Given the description of an element on the screen output the (x, y) to click on. 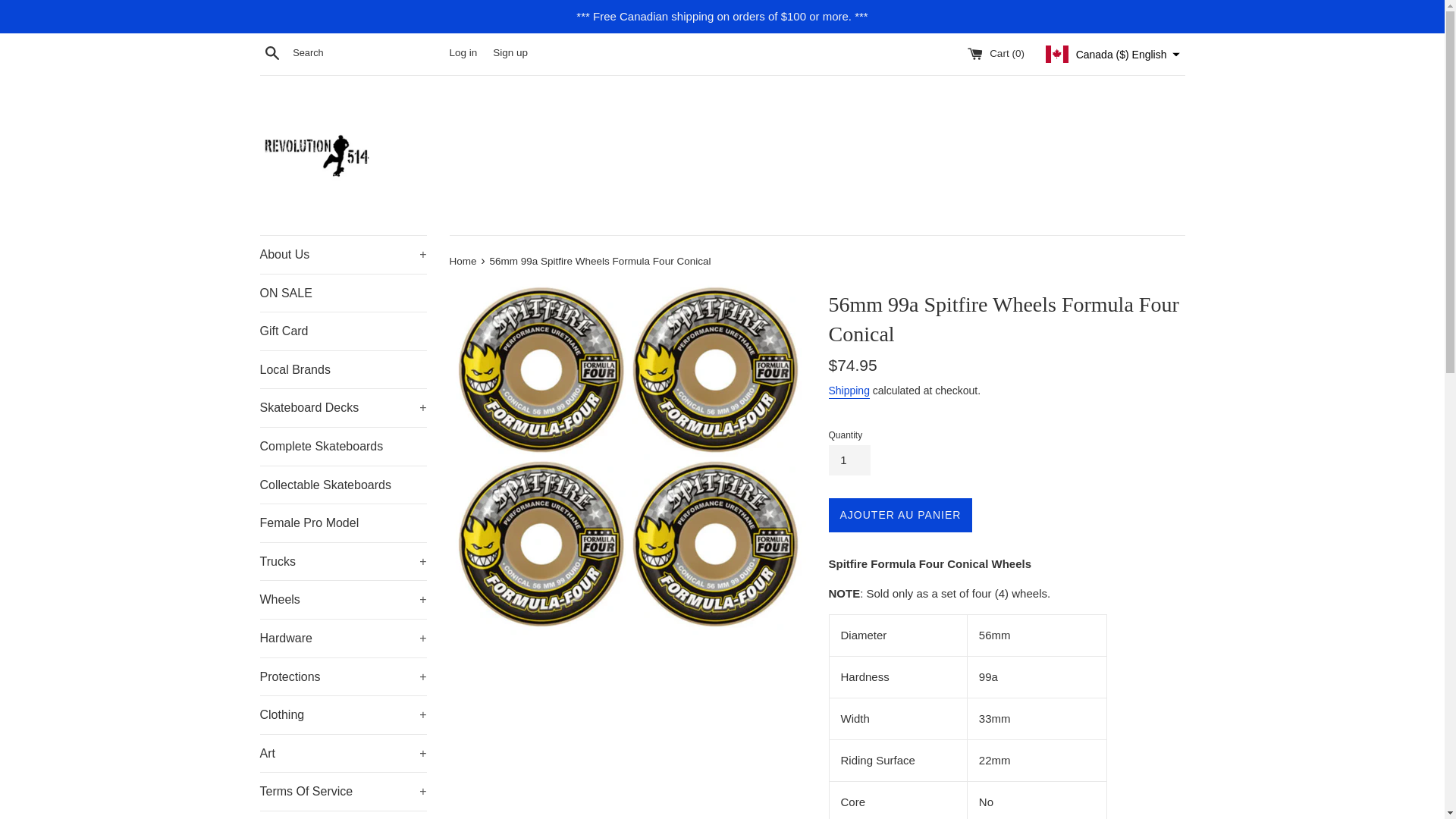
Gift Card (342, 331)
Search (271, 52)
ON SALE (342, 293)
Back to the frontpage (463, 260)
Log in (462, 52)
Sign up (510, 52)
1 (848, 460)
Local Brands (342, 370)
